Given the description of an element on the screen output the (x, y) to click on. 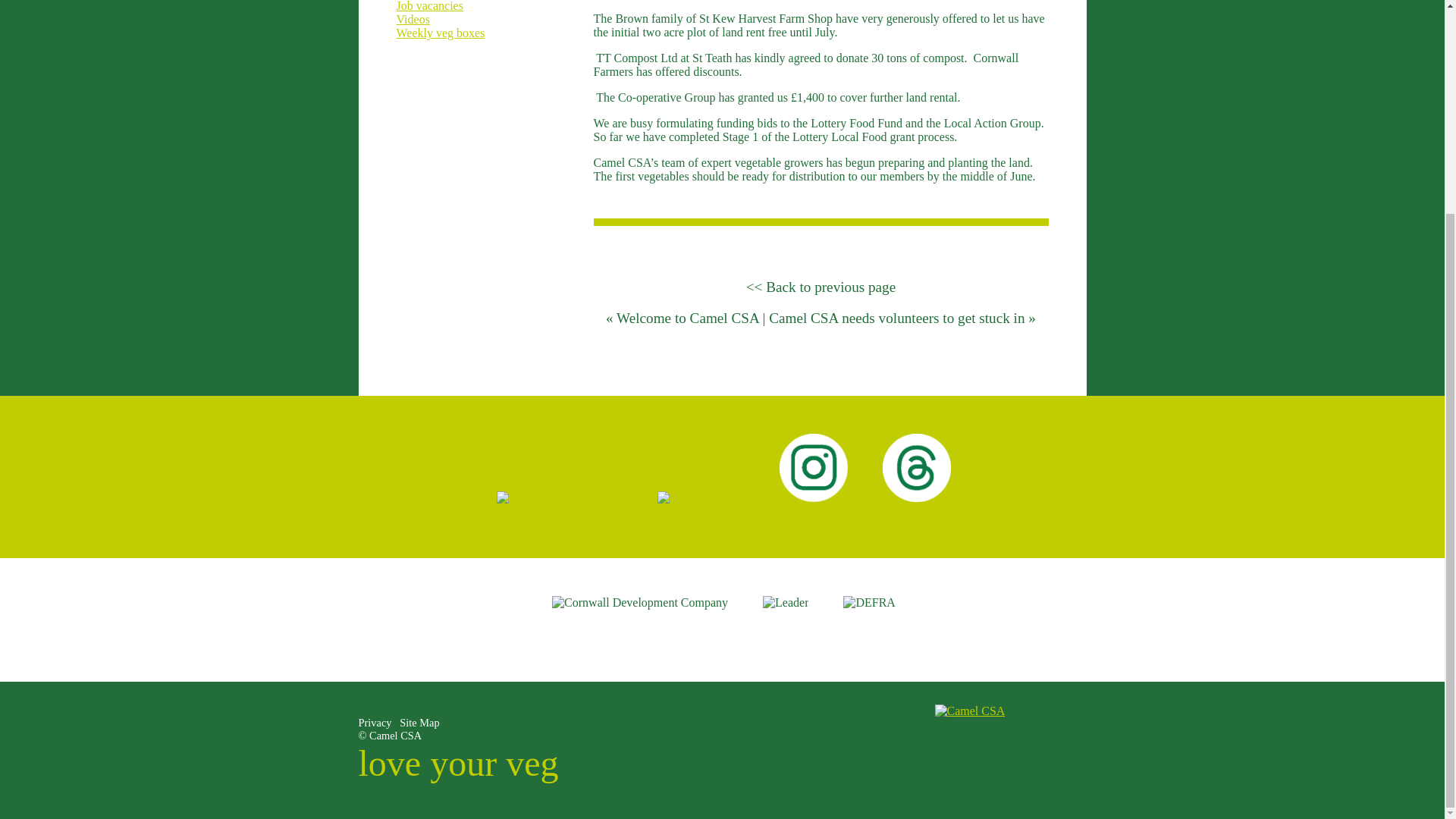
Camel CSA needs volunteers to get stuck in (896, 317)
Weekly veg boxes (440, 32)
Videos (412, 19)
Site Map (418, 722)
Job vacancies (429, 6)
Privacy (374, 722)
Welcome to Camel CSA (686, 317)
